Given the description of an element on the screen output the (x, y) to click on. 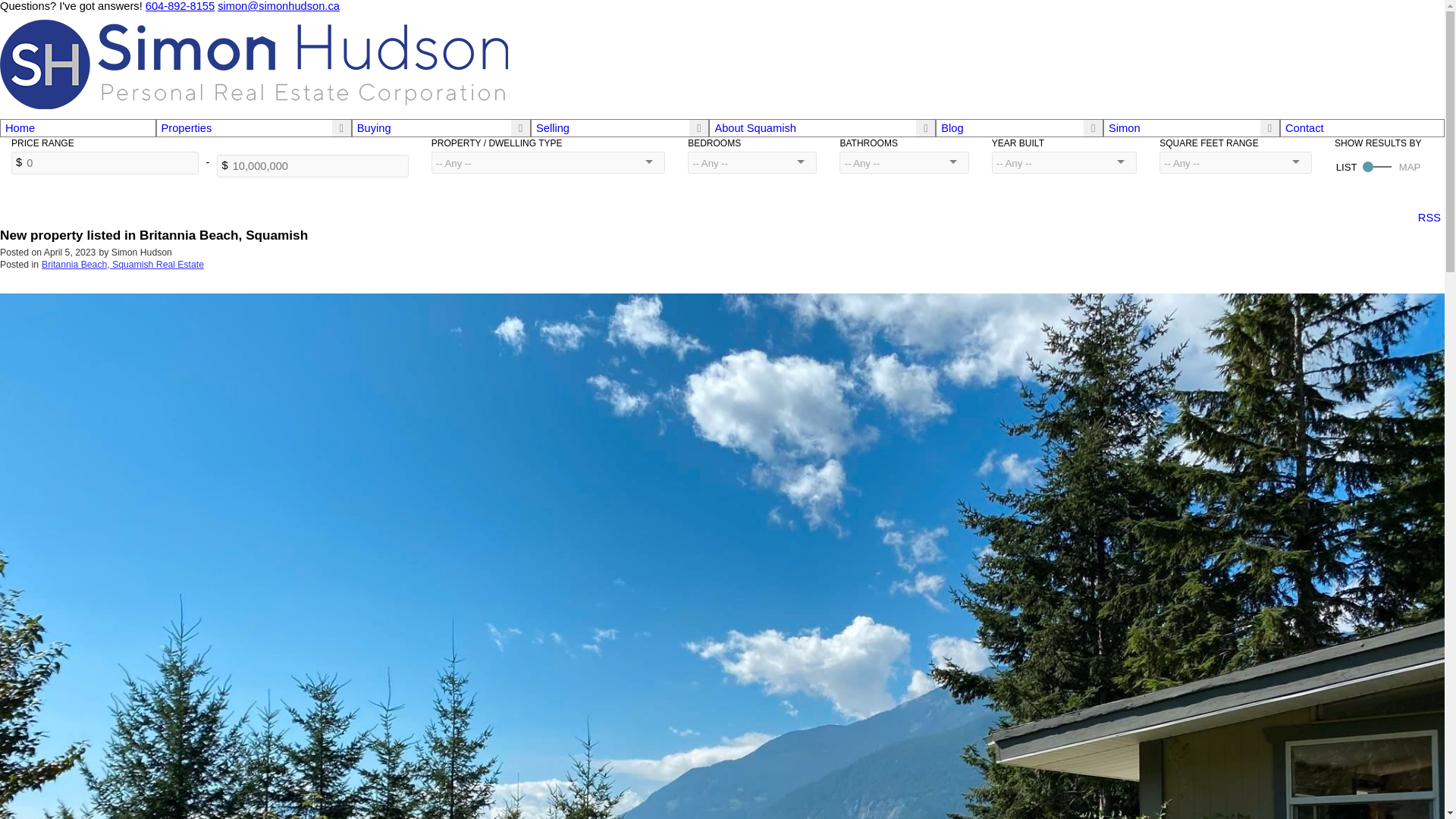
604-892-8155 (179, 6)
Selling (552, 128)
About Squamish (755, 128)
Properties (186, 128)
Buying (373, 128)
Simon (1124, 128)
Britannia Beach, Squamish Real Estate (122, 264)
Blog (951, 128)
Contact (1362, 128)
Home (78, 128)
